Given the description of an element on the screen output the (x, y) to click on. 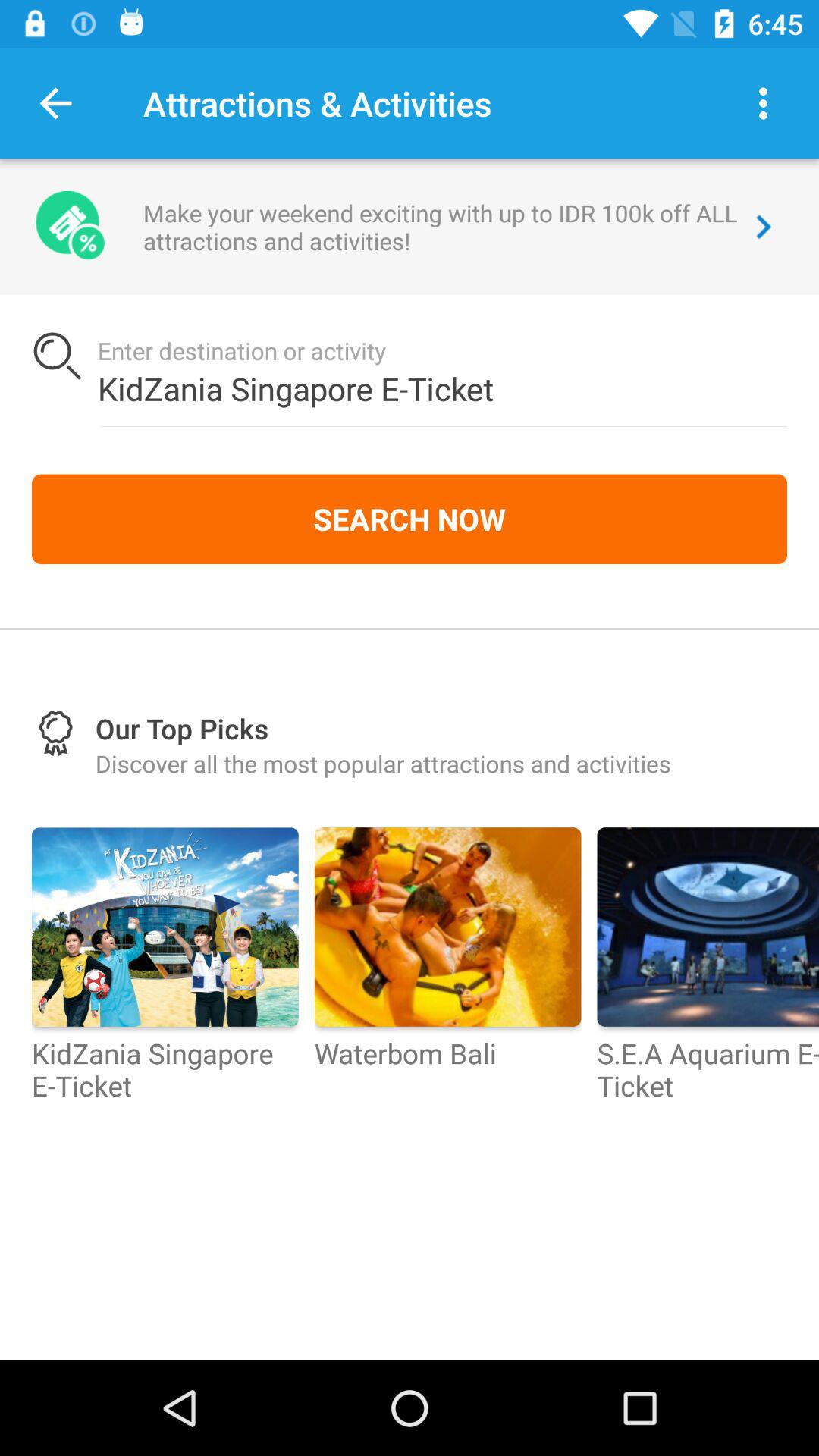
click to back option (55, 103)
